Given the description of an element on the screen output the (x, y) to click on. 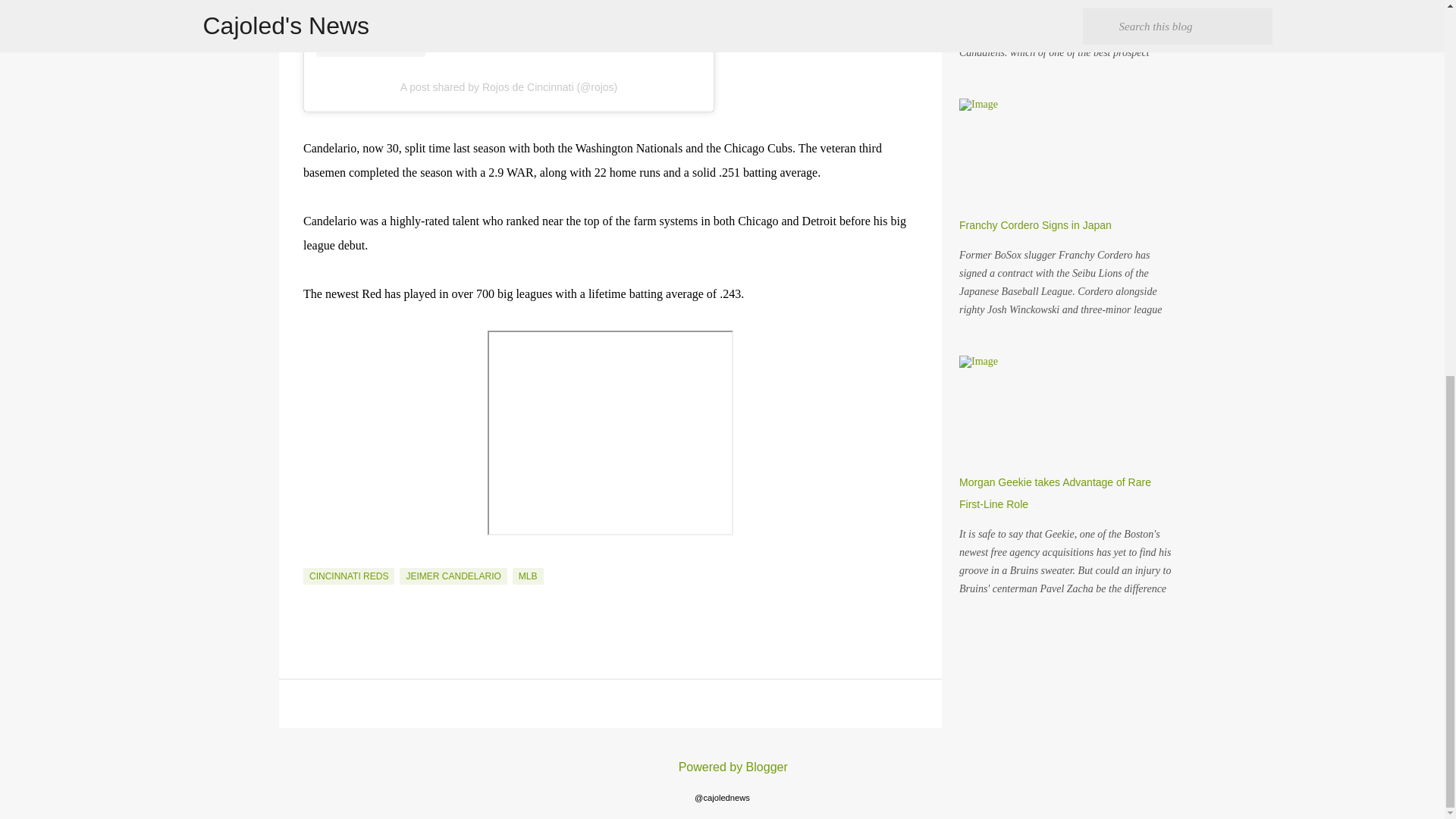
View this post on Instagram (508, 28)
CINCINNATI REDS (348, 576)
MLB (527, 576)
Franchy Cordero Signs in Japan (1035, 224)
Email Post (311, 558)
Morgan Geekie takes Advantage of Rare First-Line Role (1055, 492)
Powered by Blogger (721, 766)
JEIMER CANDELARIO (452, 576)
